Given the description of an element on the screen output the (x, y) to click on. 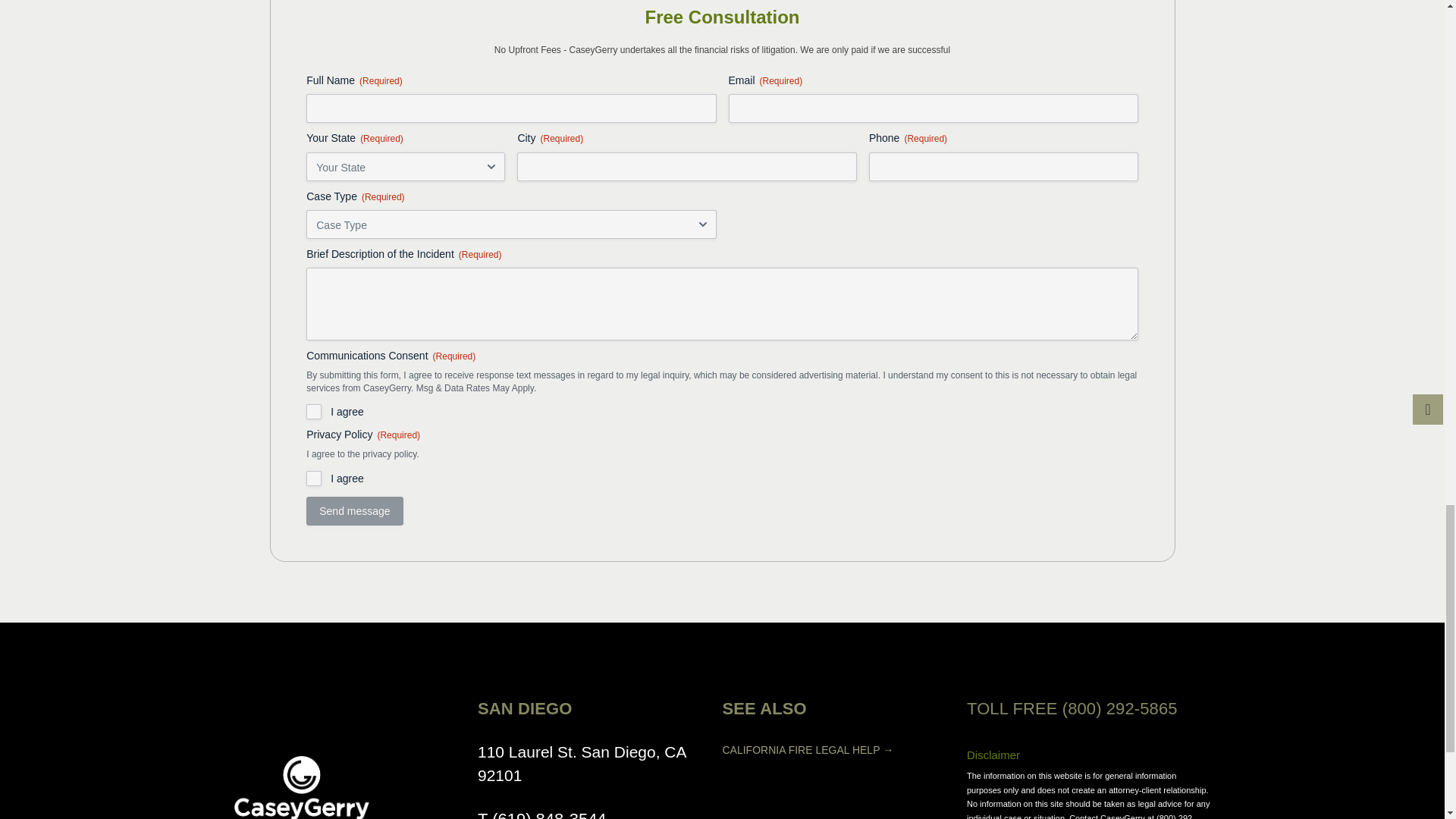
I agree (313, 411)
I agree (313, 478)
Send message (354, 510)
